Given the description of an element on the screen output the (x, y) to click on. 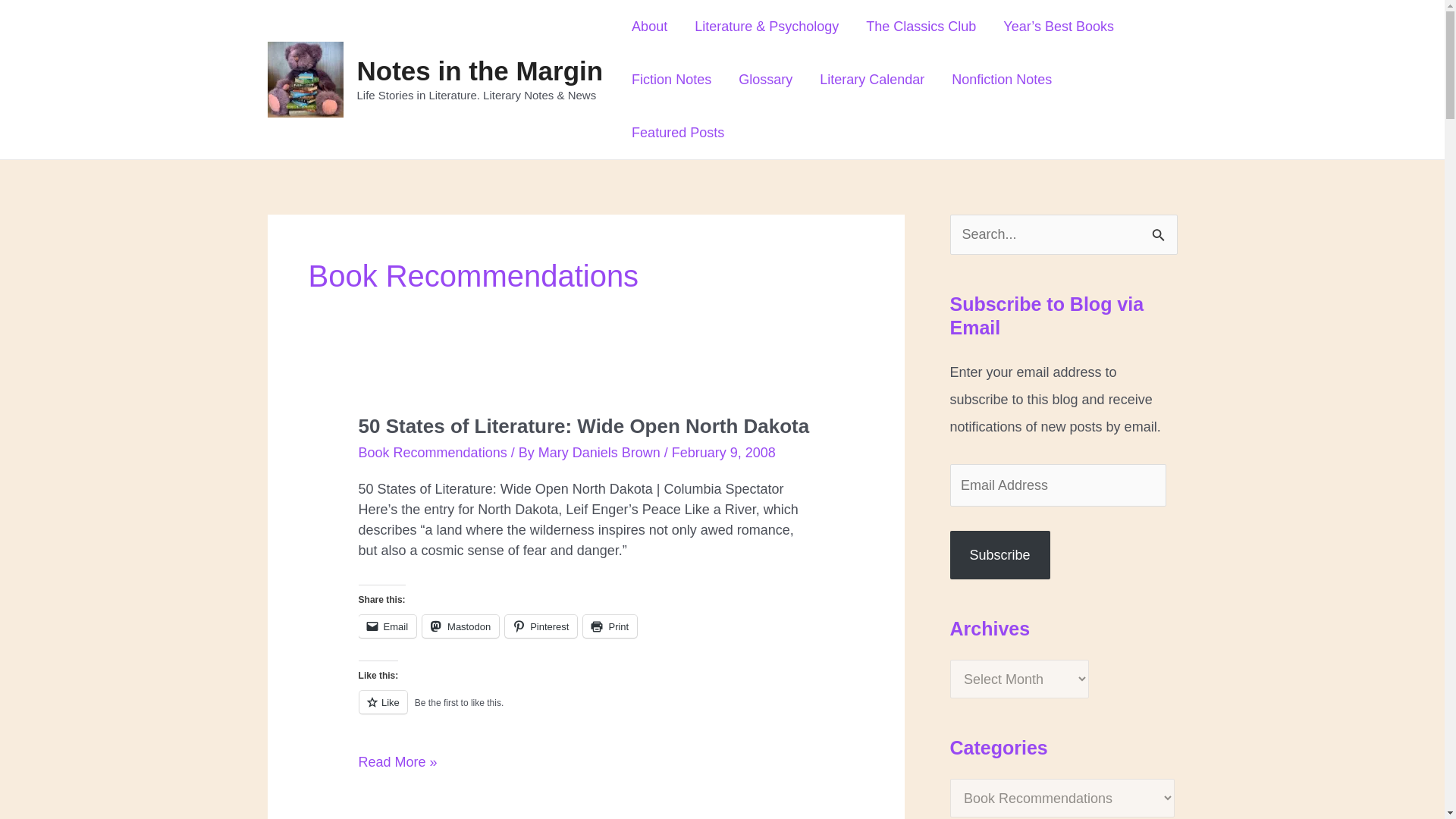
Mastodon (460, 626)
Book Recommendations (432, 452)
Literary Calendar (871, 79)
Email (387, 626)
The Classics Club (920, 26)
Print (610, 626)
About (649, 26)
Click to share on Mastodon (460, 626)
Featured Posts (677, 132)
Click to print (610, 626)
Mary Daniels Brown (600, 452)
Nonfiction Notes (1001, 79)
Click to share on Pinterest (540, 626)
Glossary (765, 79)
Search (1159, 231)
